Given the description of an element on the screen output the (x, y) to click on. 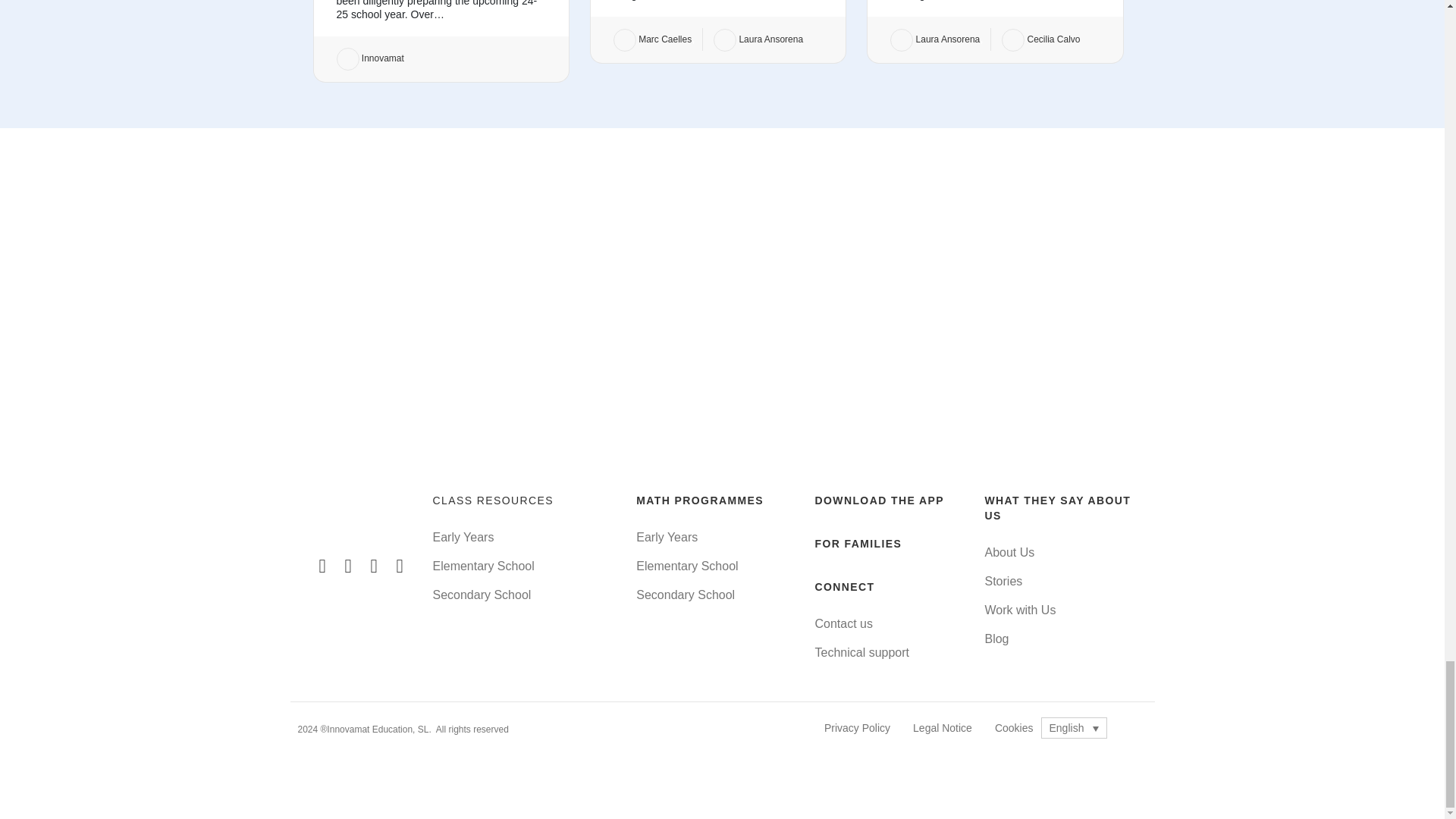
Laura Ansorena (758, 39)
Innovamat (370, 58)
Marc Caelles (651, 39)
Laura Ansorena (934, 39)
Cecilia Calvo (1040, 39)
